Given the description of an element on the screen output the (x, y) to click on. 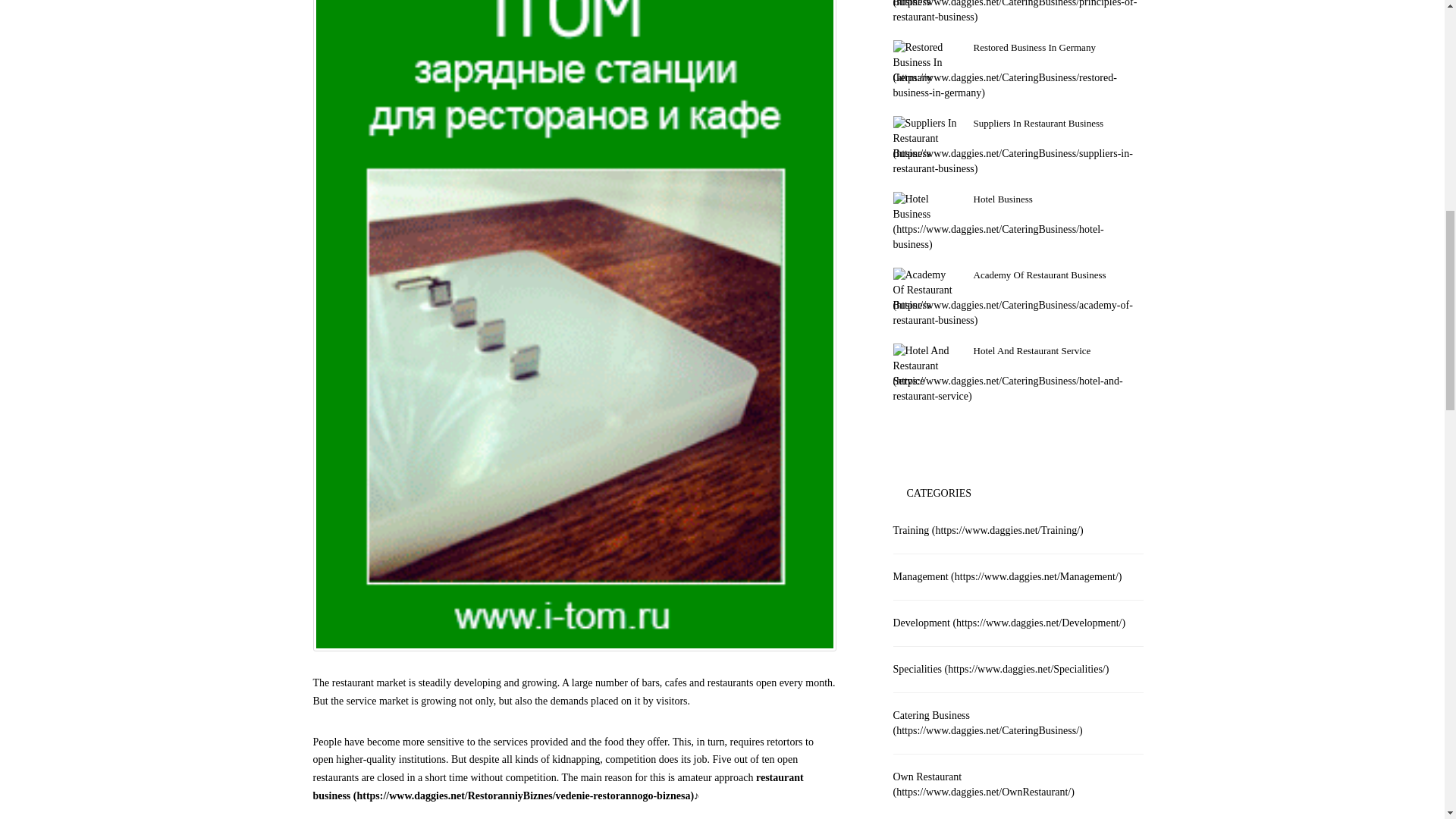
View all posts filed under Management (1007, 576)
View all posts filed under Own Restaurant (983, 784)
View all posts filed under Development (1009, 622)
View all posts filed under Training (988, 530)
View all posts filed under Catering Business (988, 723)
View all posts filed under Specialities (1001, 668)
restaurant business (558, 786)
